Given the description of an element on the screen output the (x, y) to click on. 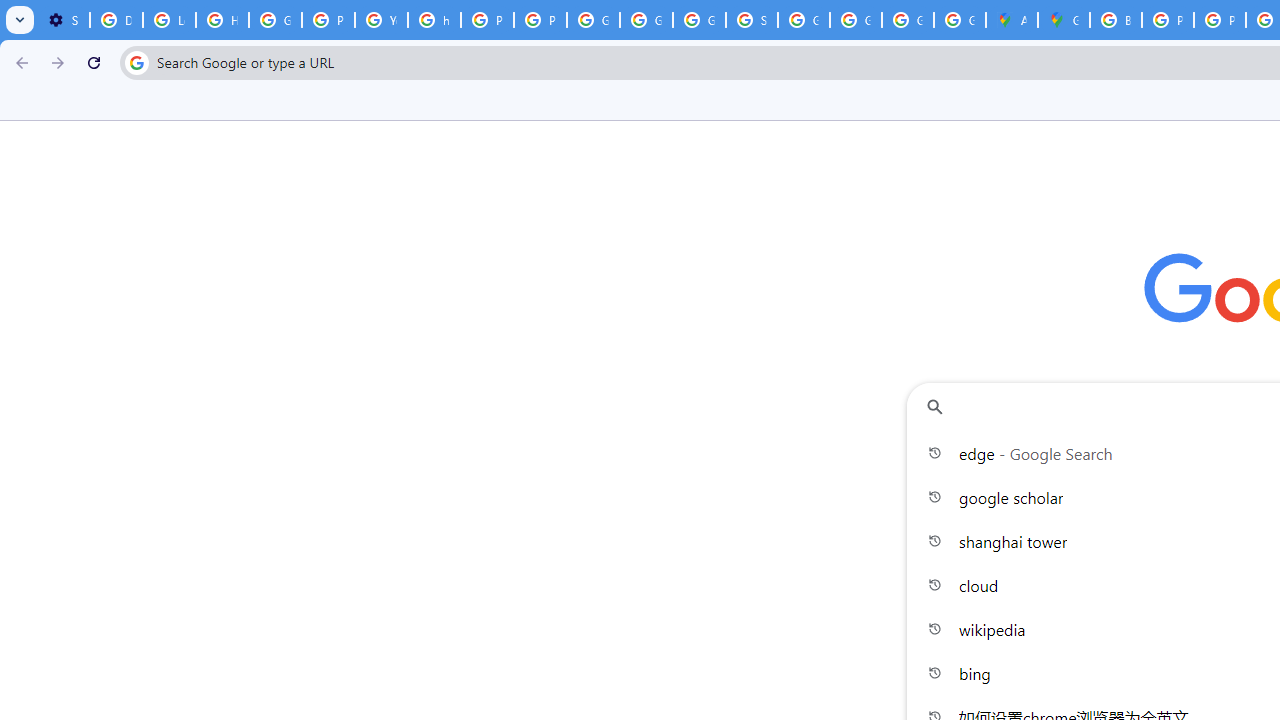
Privacy Help Center - Policies Help (487, 20)
YouTube (381, 20)
Settings - Customize profile (63, 20)
Privacy Help Center - Policies Help (328, 20)
Learn how to find your photos - Google Photos Help (169, 20)
Sign in - Google Accounts (751, 20)
